Given the description of an element on the screen output the (x, y) to click on. 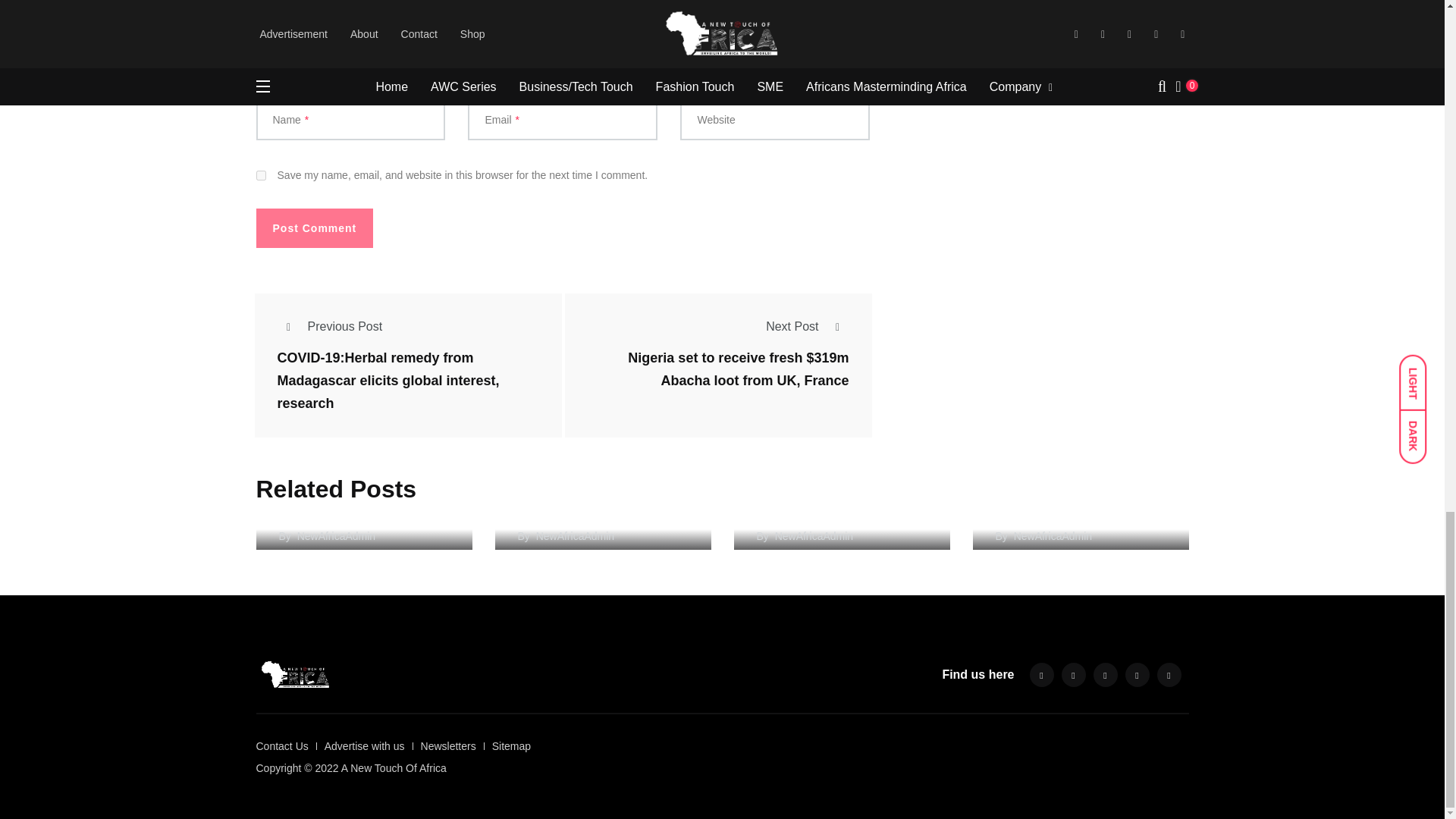
Post Comment (315, 228)
yes (261, 175)
